Given the description of an element on the screen output the (x, y) to click on. 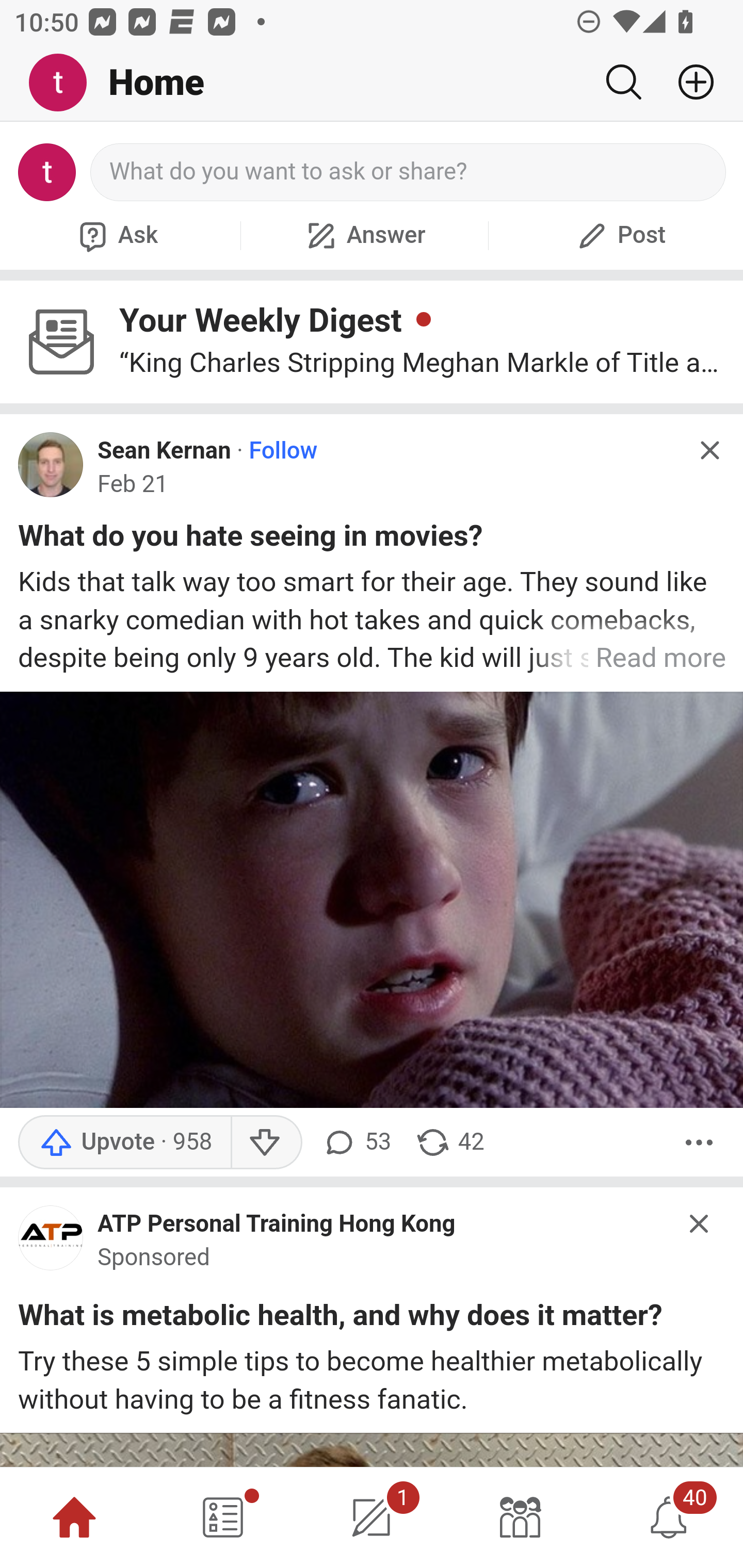
Me (64, 83)
Search (623, 82)
Add (688, 82)
What do you want to ask or share? (408, 172)
Ask (116, 234)
Answer (364, 234)
Post (618, 234)
Hide (709, 449)
Profile photo for Sean Kernan (50, 465)
Sean Kernan (164, 451)
Follow (283, 451)
Upvote (124, 1141)
Downvote (266, 1141)
53 comments (356, 1141)
42 shares (448, 1141)
More (699, 1141)
Hide (699, 1223)
main-qimg-1f396d5a5e054ddd9a425d683de3a2f9 (50, 1242)
ATP Personal Training Hong Kong (276, 1222)
Sponsored (154, 1257)
What is metabolic health, and why does it matter? (339, 1318)
1 (371, 1517)
40 (668, 1517)
